Given the description of an element on the screen output the (x, y) to click on. 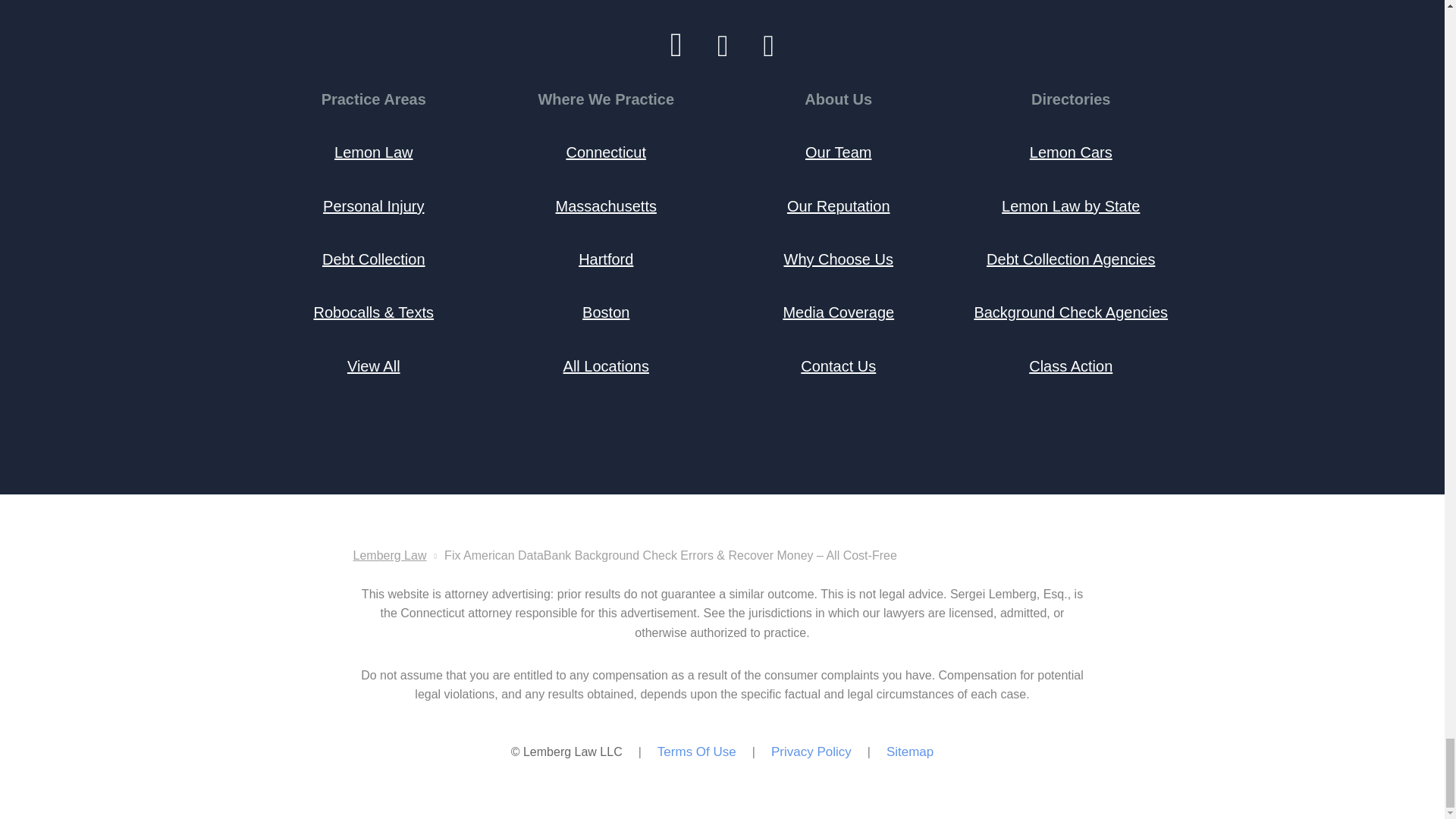
Go to Lemberg Law. (389, 554)
